Given the description of an element on the screen output the (x, y) to click on. 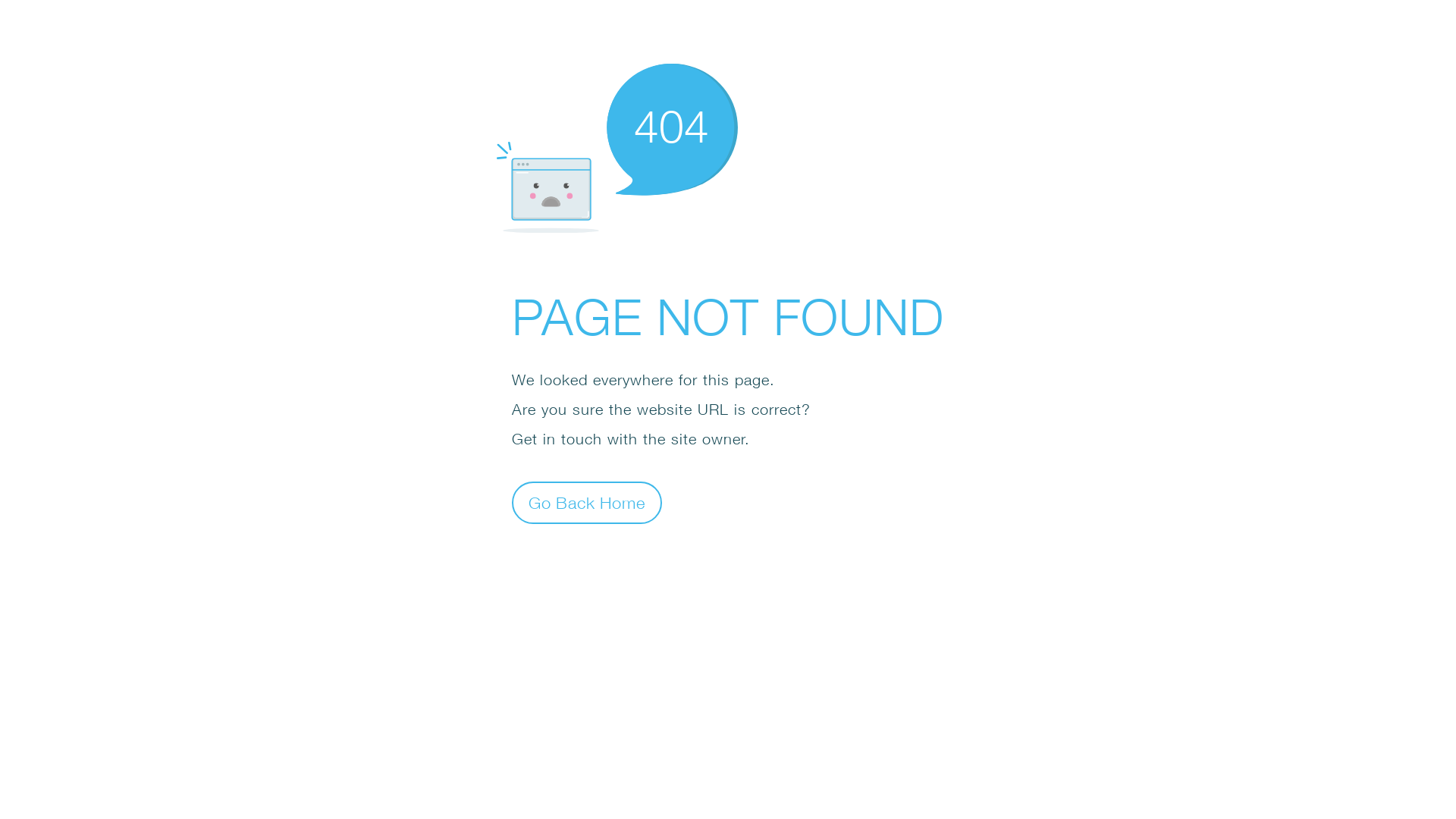
Go Back Home Element type: text (586, 502)
